Given the description of an element on the screen output the (x, y) to click on. 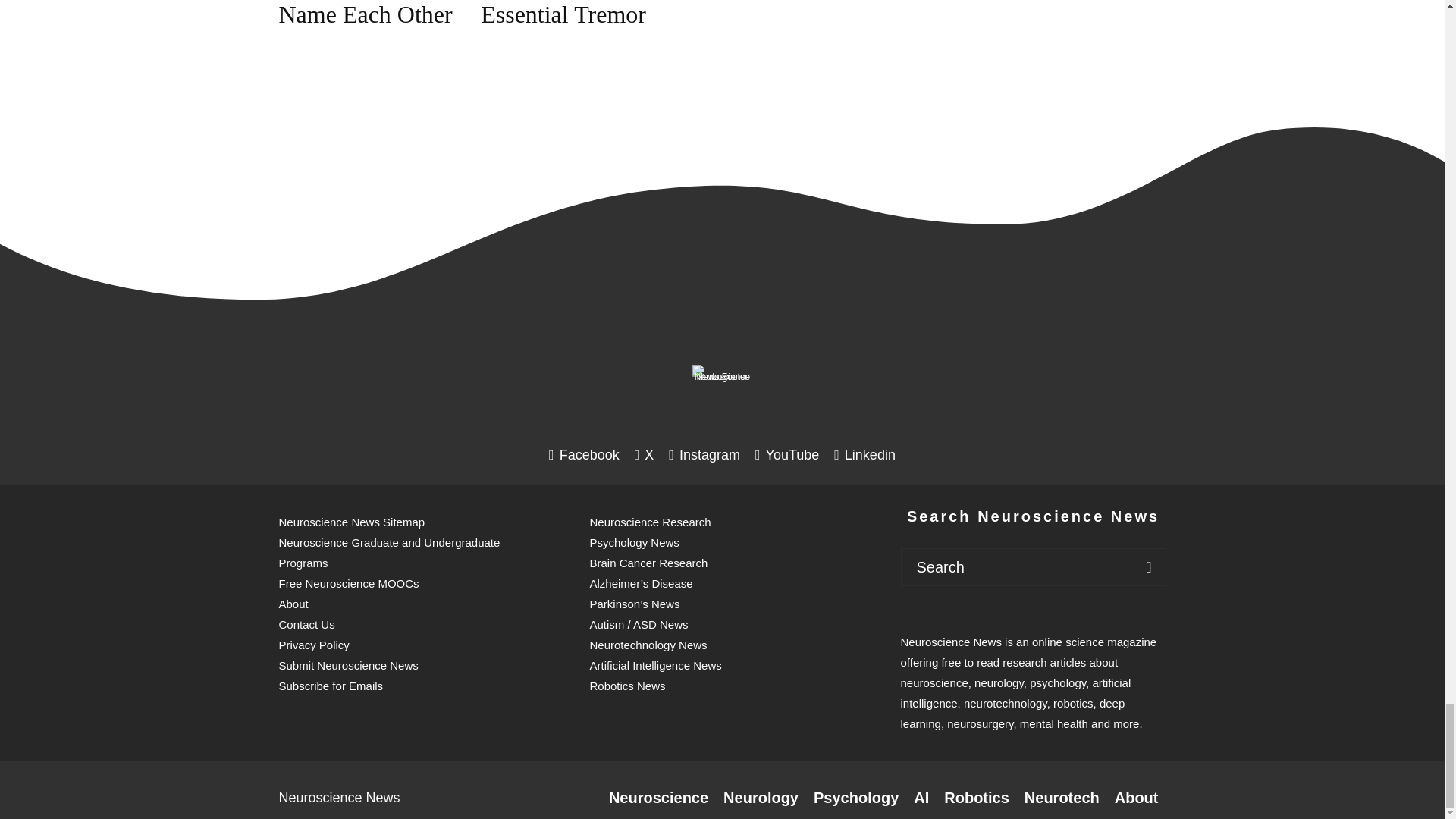
Psychology Research Articles (855, 797)
Neuroscience Research (657, 797)
Neurology Research Articles (760, 797)
